Given the description of an element on the screen output the (x, y) to click on. 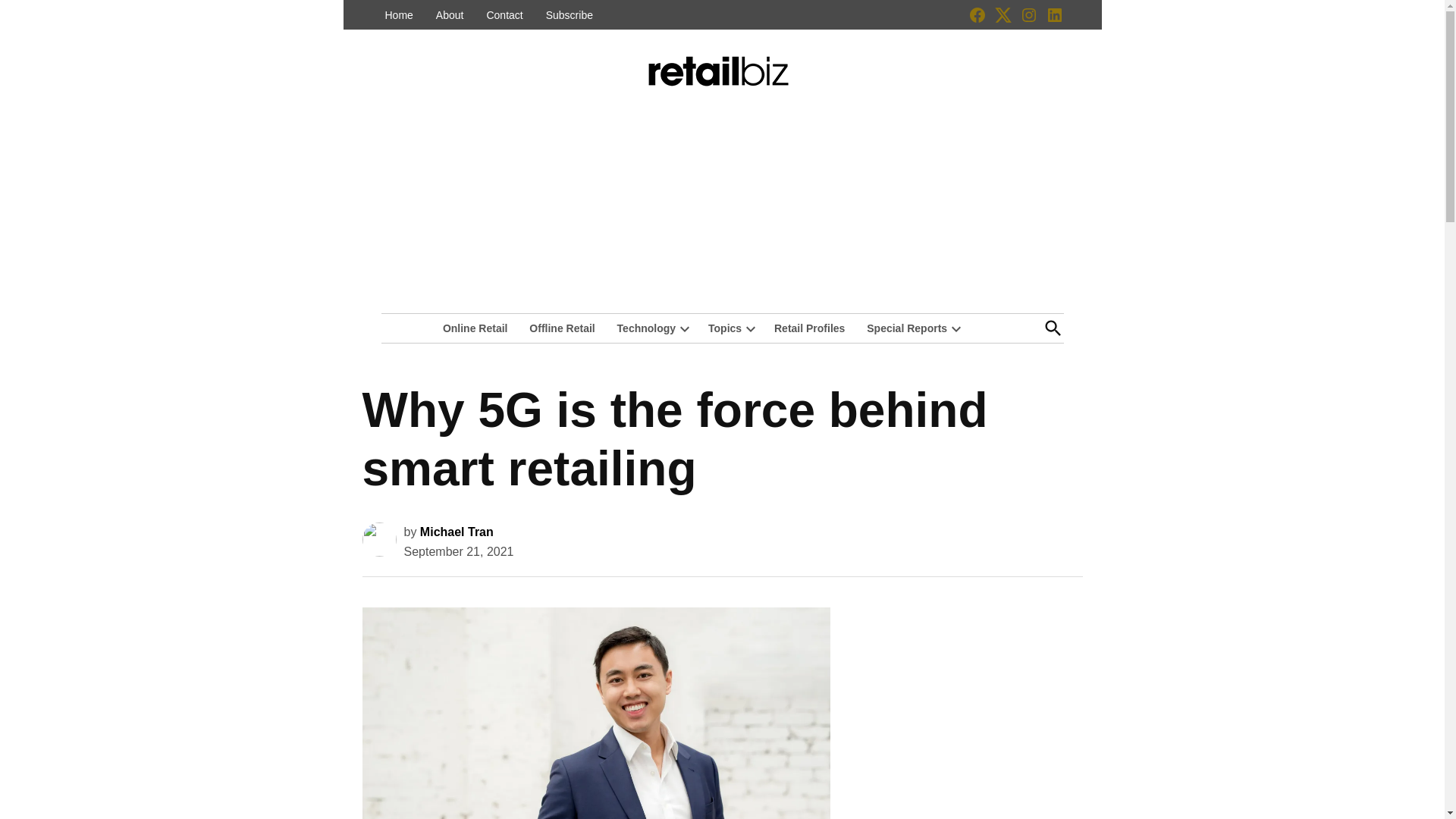
3rd party ad content (969, 694)
